Given the description of an element on the screen output the (x, y) to click on. 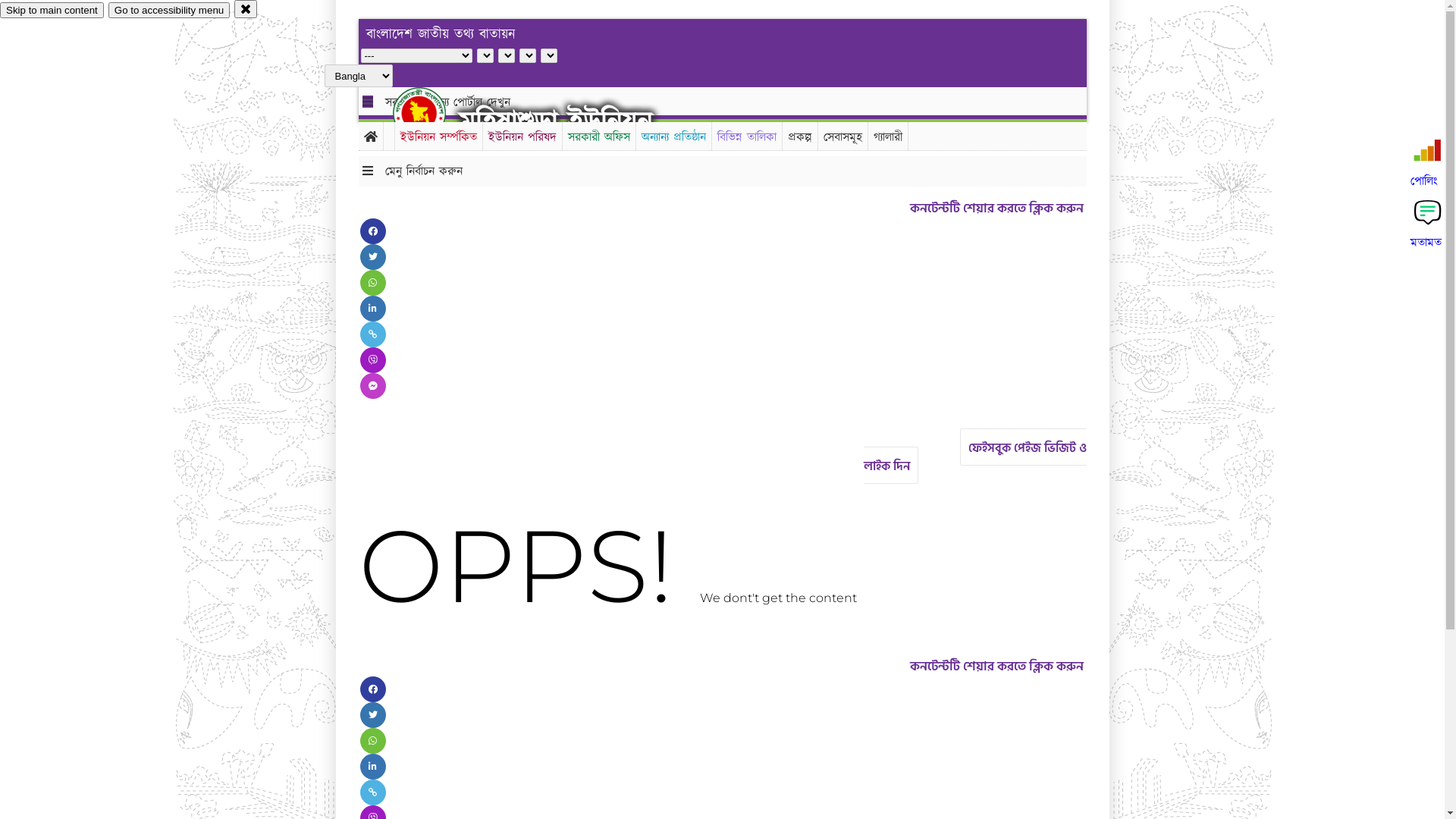
close Element type: hover (245, 9)
Skip to main content Element type: text (51, 10)
Go to accessibility menu Element type: text (168, 10)

                
             Element type: hover (431, 112)
